Given the description of an element on the screen output the (x, y) to click on. 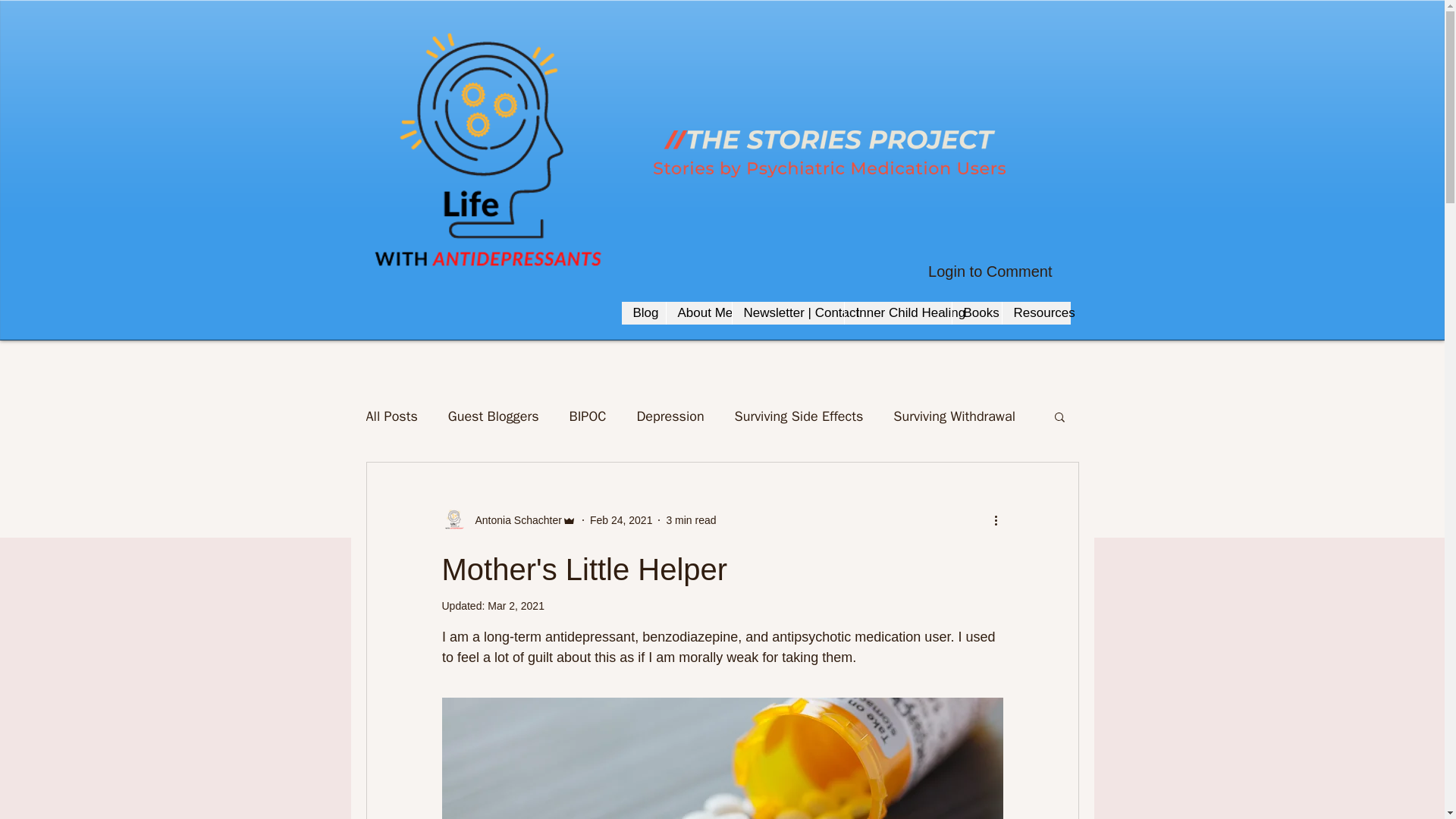
3 min read (690, 520)
Inner Child Healing (896, 313)
Mar 2, 2021 (515, 605)
Antonia Schachter (512, 520)
Surviving Withdrawal (953, 416)
Resources (1035, 313)
Depression (669, 416)
All Posts (390, 416)
Surviving Side Effects (799, 416)
About Me (698, 313)
Antonia Schachter (508, 519)
Books (975, 313)
Login to Comment (989, 271)
BIPOC (588, 416)
Blog (643, 313)
